Given the description of an element on the screen output the (x, y) to click on. 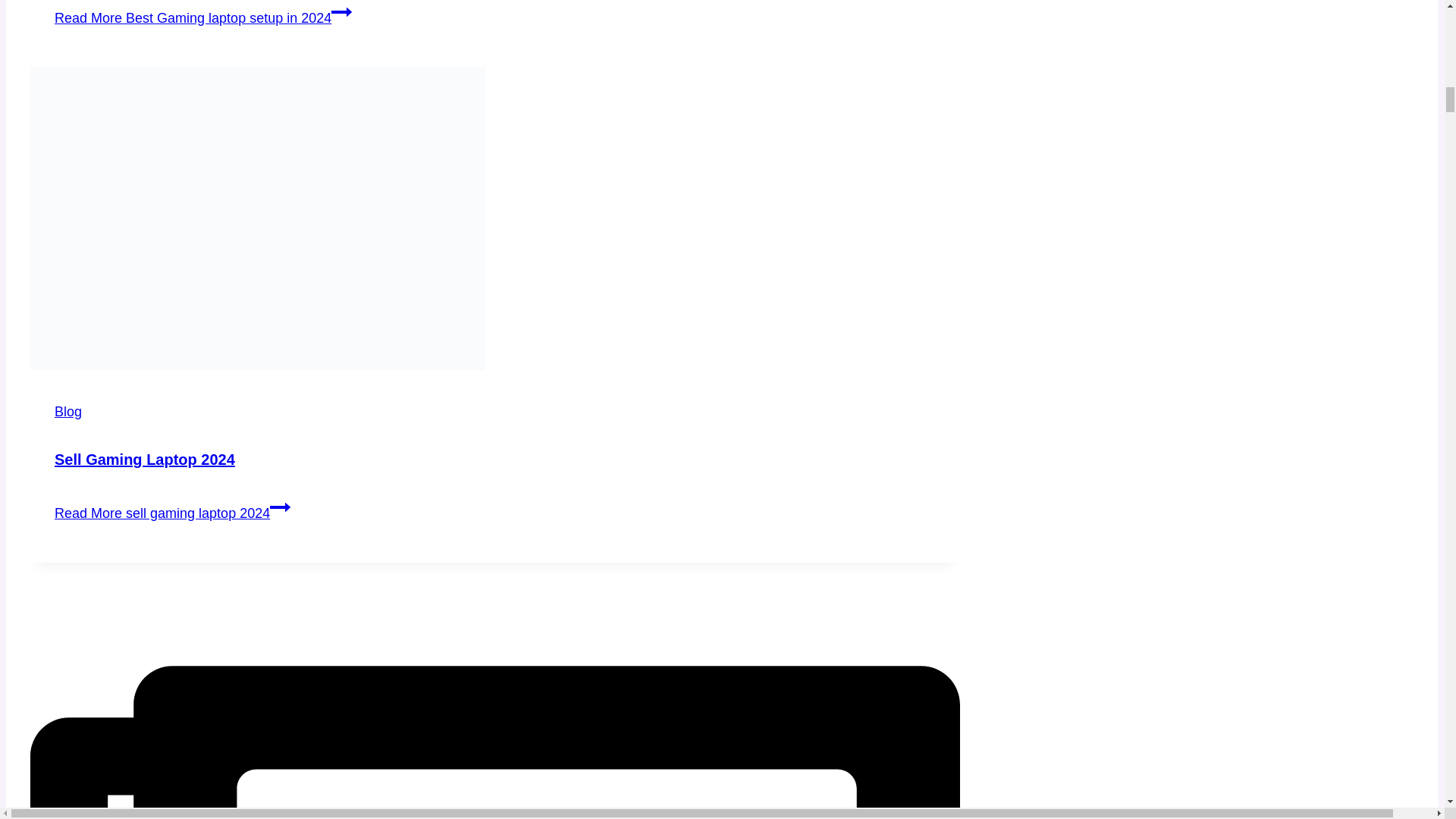
Read More Best Gaming laptop setup in 2024 (203, 17)
Read More sell gaming laptop 2024 (172, 513)
Sell Gaming Laptop 2024 (144, 459)
Blog (68, 411)
